Given the description of an element on the screen output the (x, y) to click on. 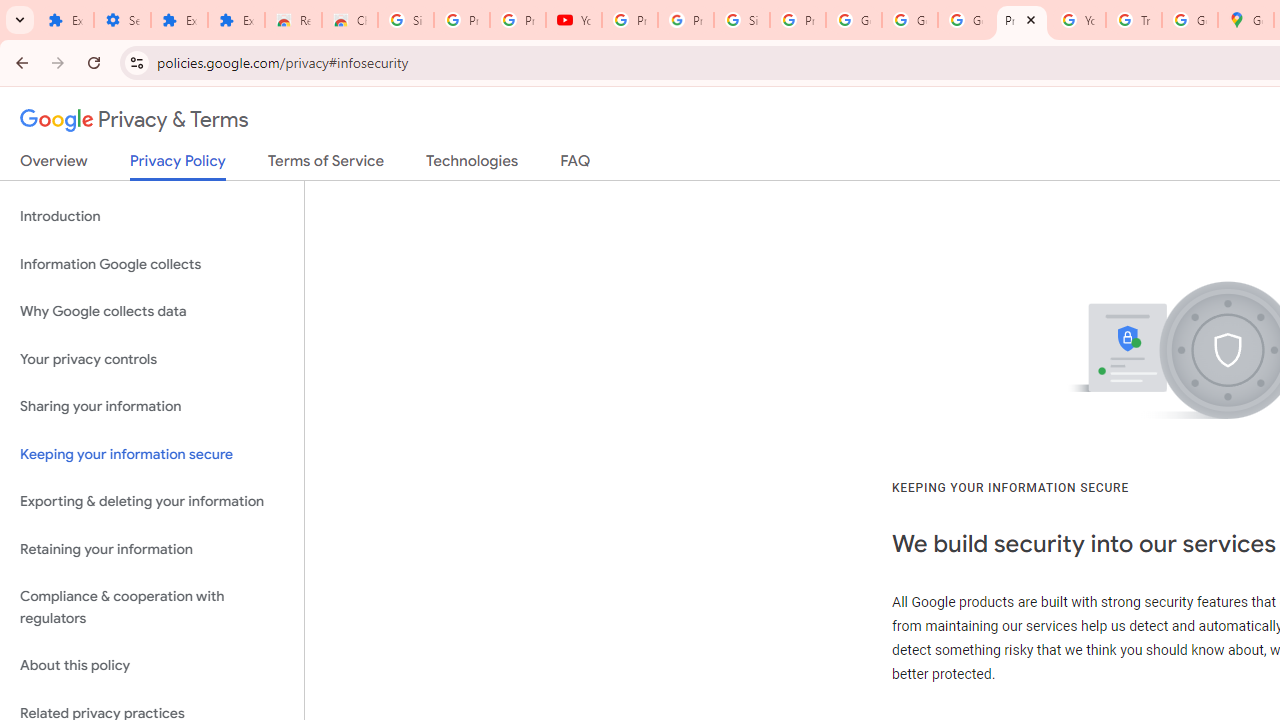
Google Account (909, 20)
